Given the description of an element on the screen output the (x, y) to click on. 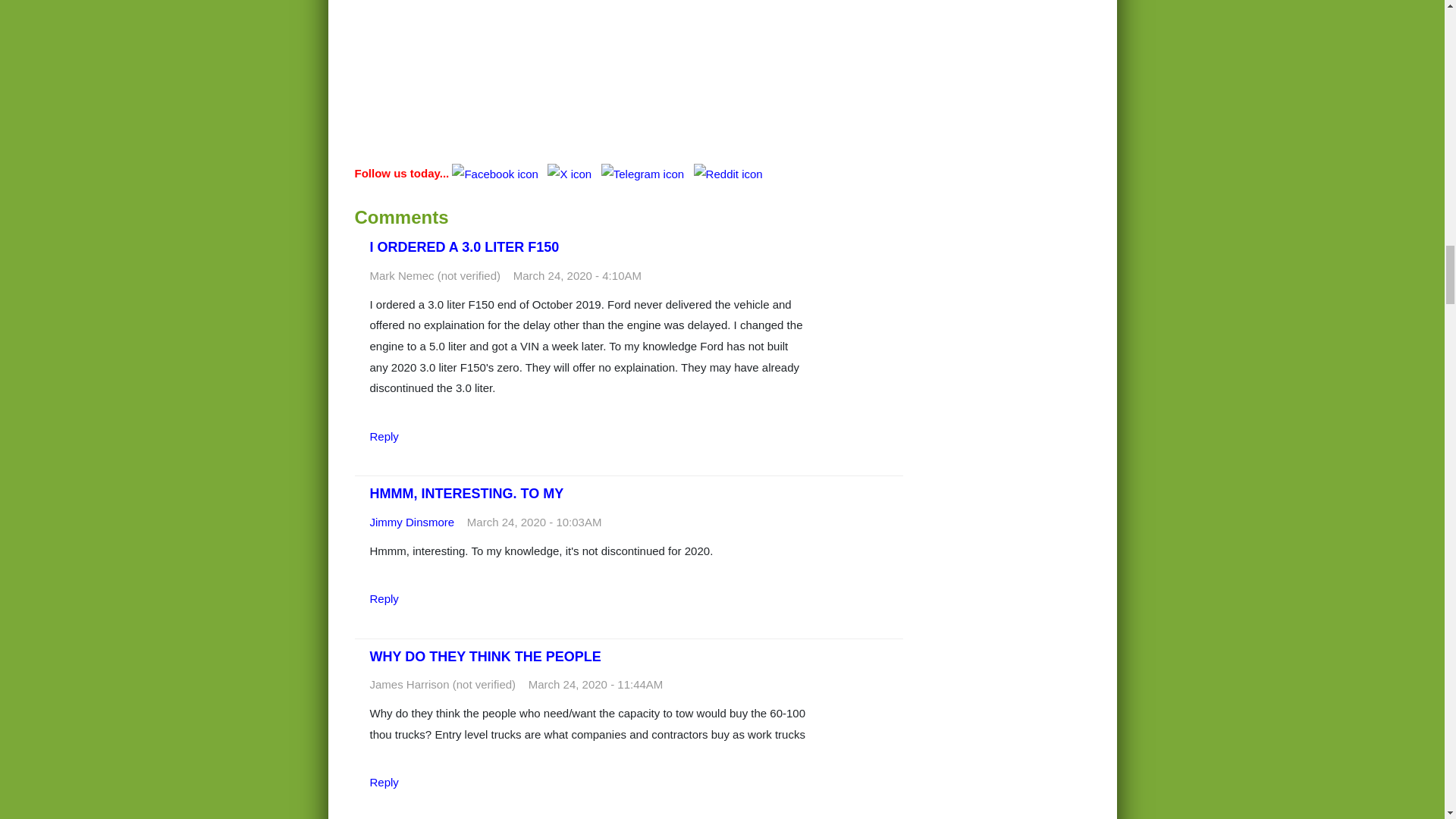
Join us on Reddit! (728, 205)
Join us on Telegram! (644, 205)
View user profile. (411, 555)
